Given the description of an element on the screen output the (x, y) to click on. 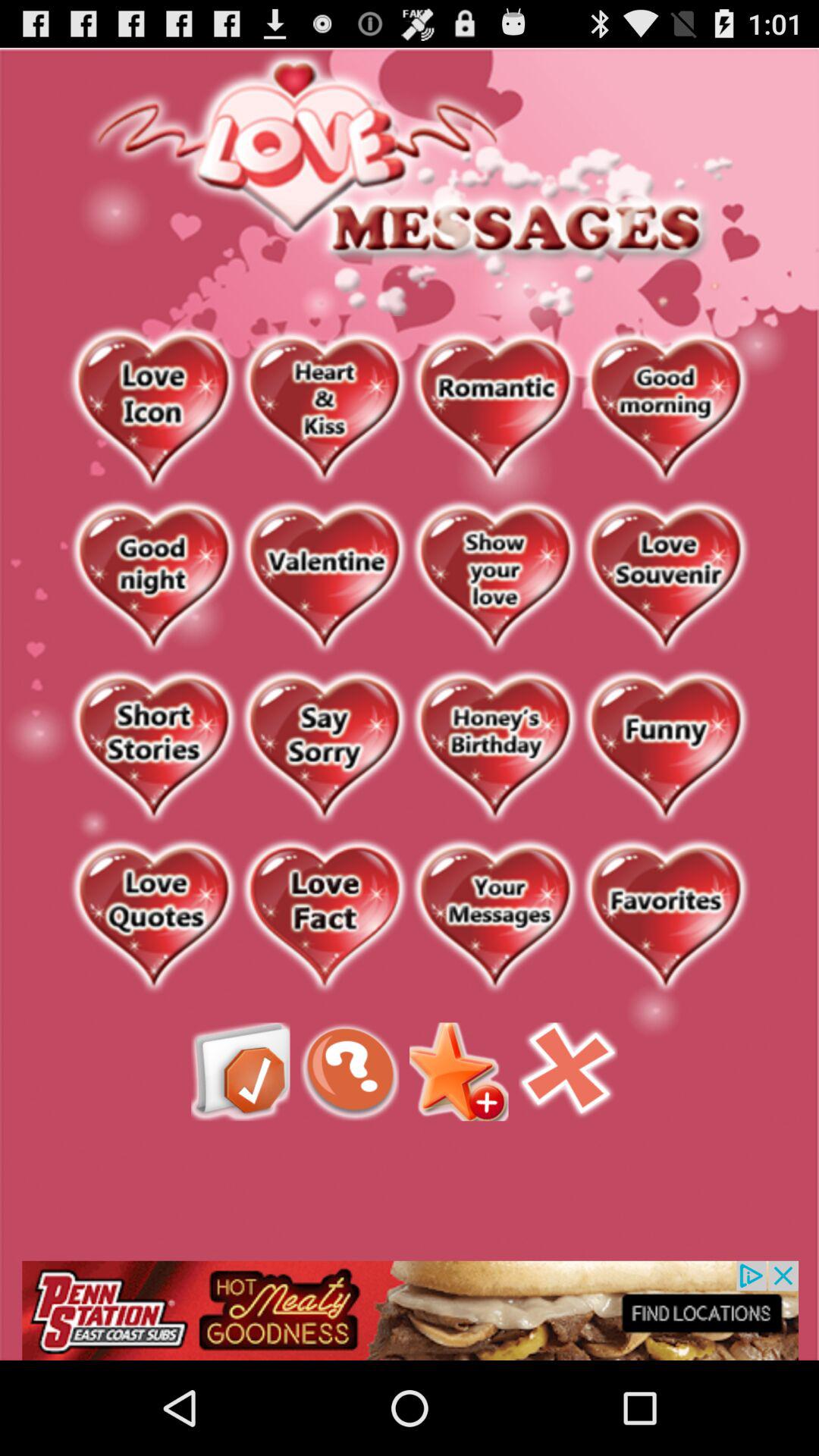
pick say sorry (323, 747)
